Given the description of an element on the screen output the (x, y) to click on. 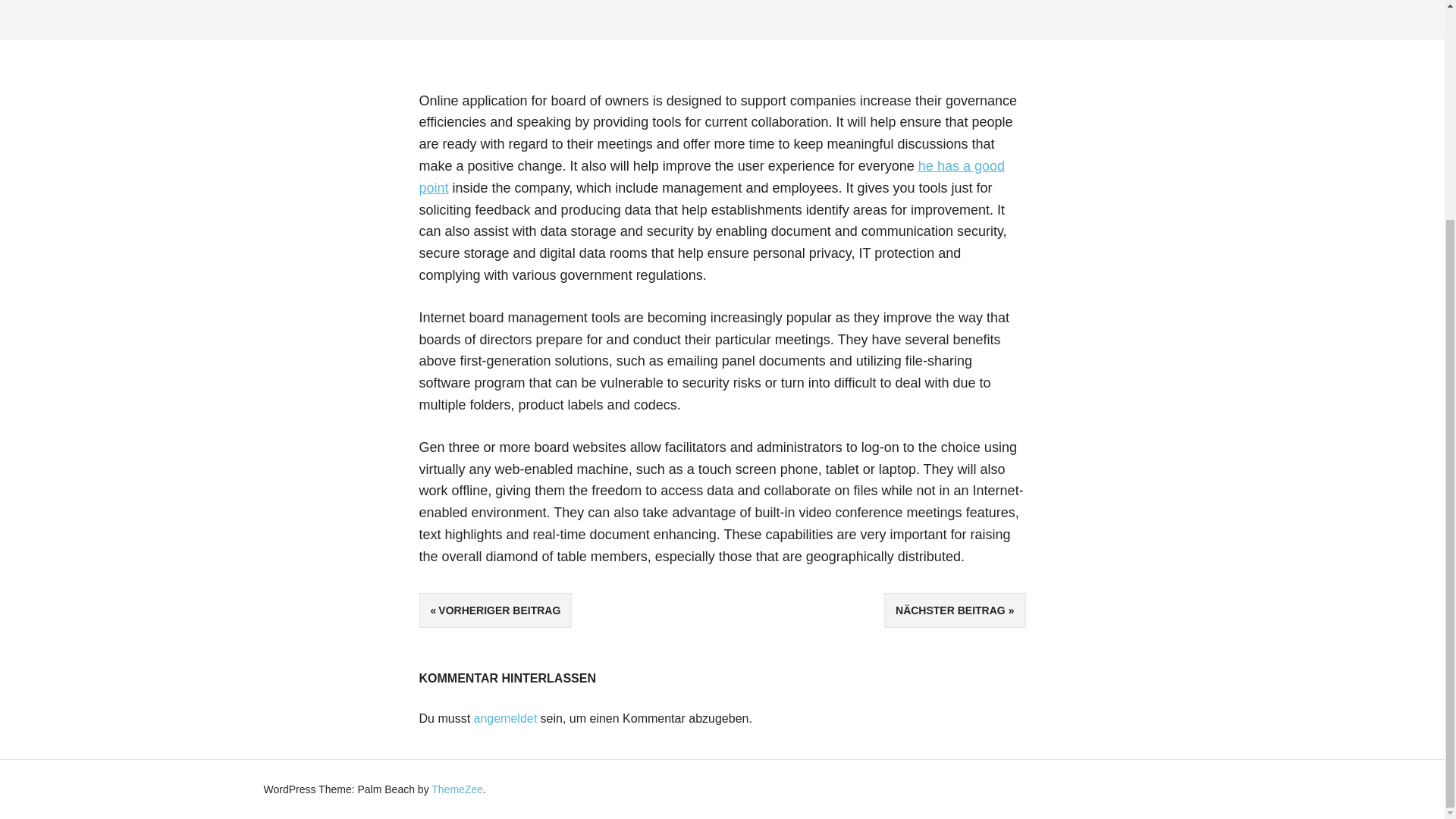
he has a good point (711, 176)
angemeldet (505, 717)
VORHERIGER BEITRAG (495, 610)
ThemeZee (456, 788)
